Given the description of an element on the screen output the (x, y) to click on. 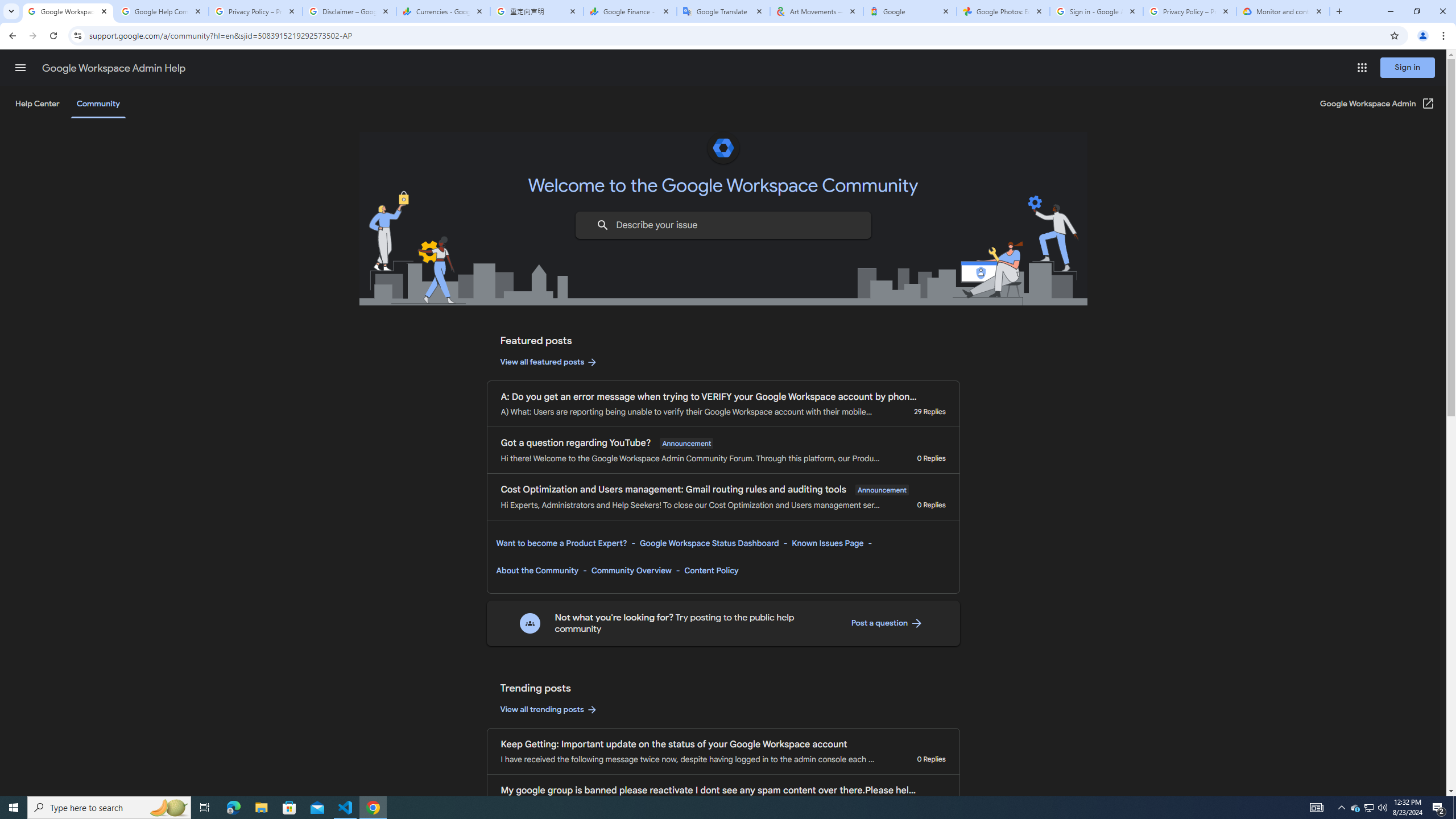
Forward (32, 35)
Chrome (1445, 35)
Google Translate (722, 11)
Back (10, 35)
You (1422, 35)
View site information (77, 35)
Restore (1416, 11)
Google apps (1362, 67)
Google Workspace Admin Help (113, 68)
Community Overview (631, 570)
Help Center (36, 103)
